Given the description of an element on the screen output the (x, y) to click on. 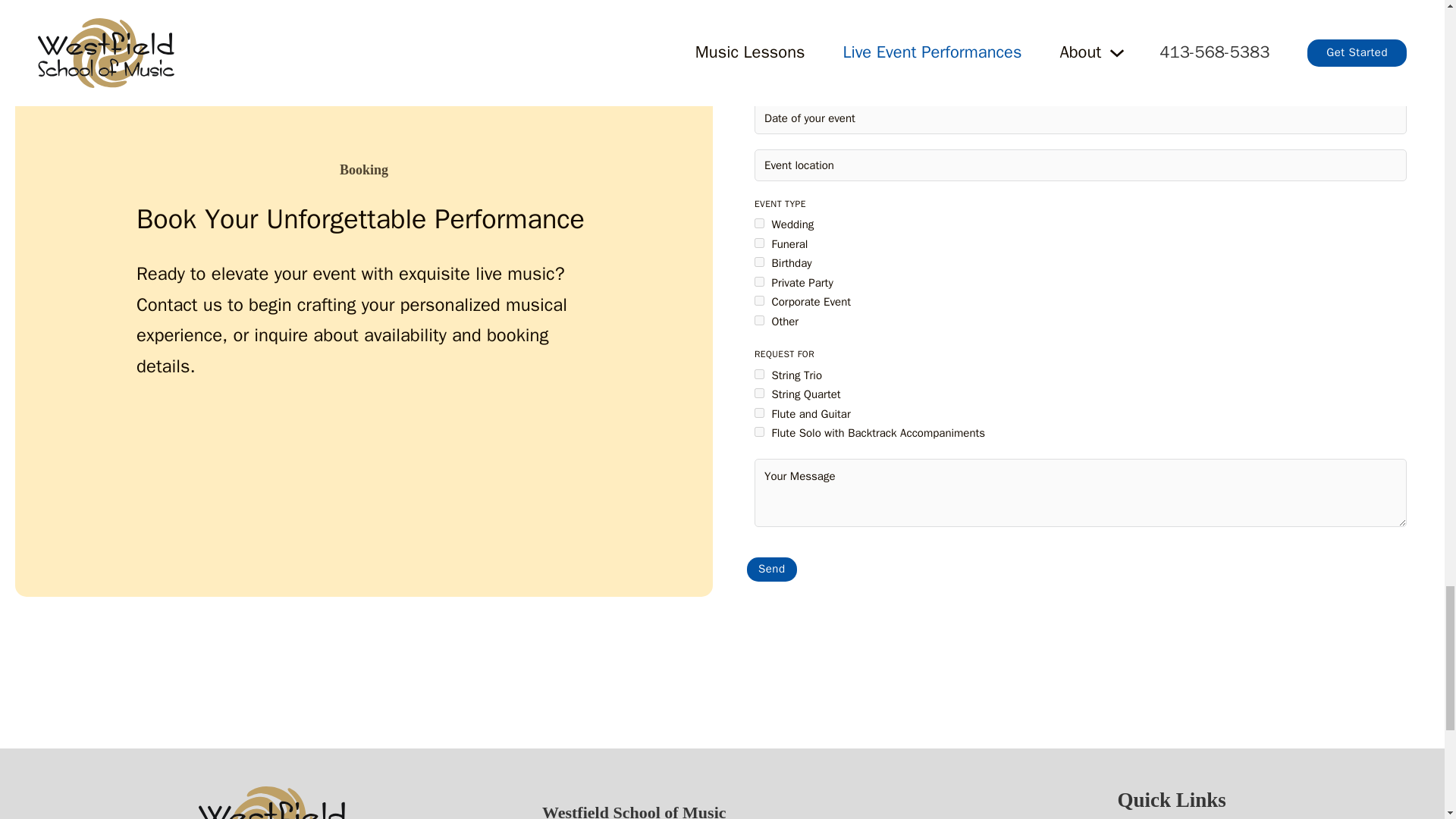
Flute and Guitar (759, 412)
Private Party (759, 281)
Wedding (759, 223)
String Trio (759, 374)
Other (759, 320)
Corporate Event (759, 300)
Birthday (759, 261)
Flute Solo with Backtrack Accompaniments (759, 431)
String Quartet (759, 393)
Funeral (759, 243)
